Given the description of an element on the screen output the (x, y) to click on. 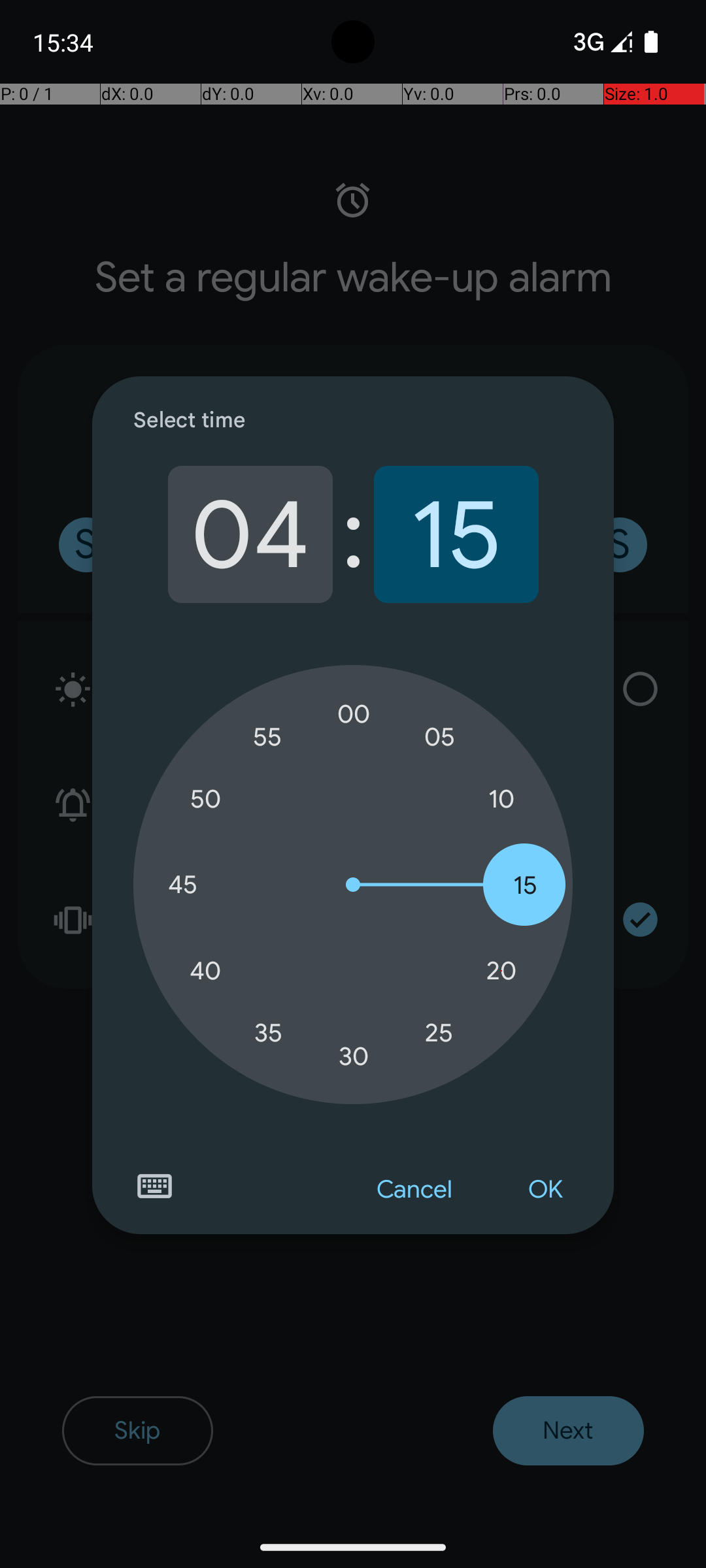
04 Element type: android.view.View (250, 534)
15 Element type: android.view.View (455, 534)
Switch to text input mode for the time input. Element type: android.widget.Button (154, 1186)
Cancel Element type: android.widget.Button (414, 1189)
55 Element type: android.widget.TextView (267, 736)
50 Element type: android.widget.TextView (205, 798)
05 Element type: android.widget.TextView (439, 736)
10 Element type: android.widget.TextView (501, 798)
45 Element type: android.widget.TextView (182, 884)
40 Element type: android.widget.TextView (205, 970)
35 Element type: android.widget.TextView (267, 1032)
30 Element type: android.widget.TextView (353, 1056)
25 Element type: android.widget.TextView (438, 1032)
20 Element type: android.widget.TextView (501, 970)
